Given the description of an element on the screen output the (x, y) to click on. 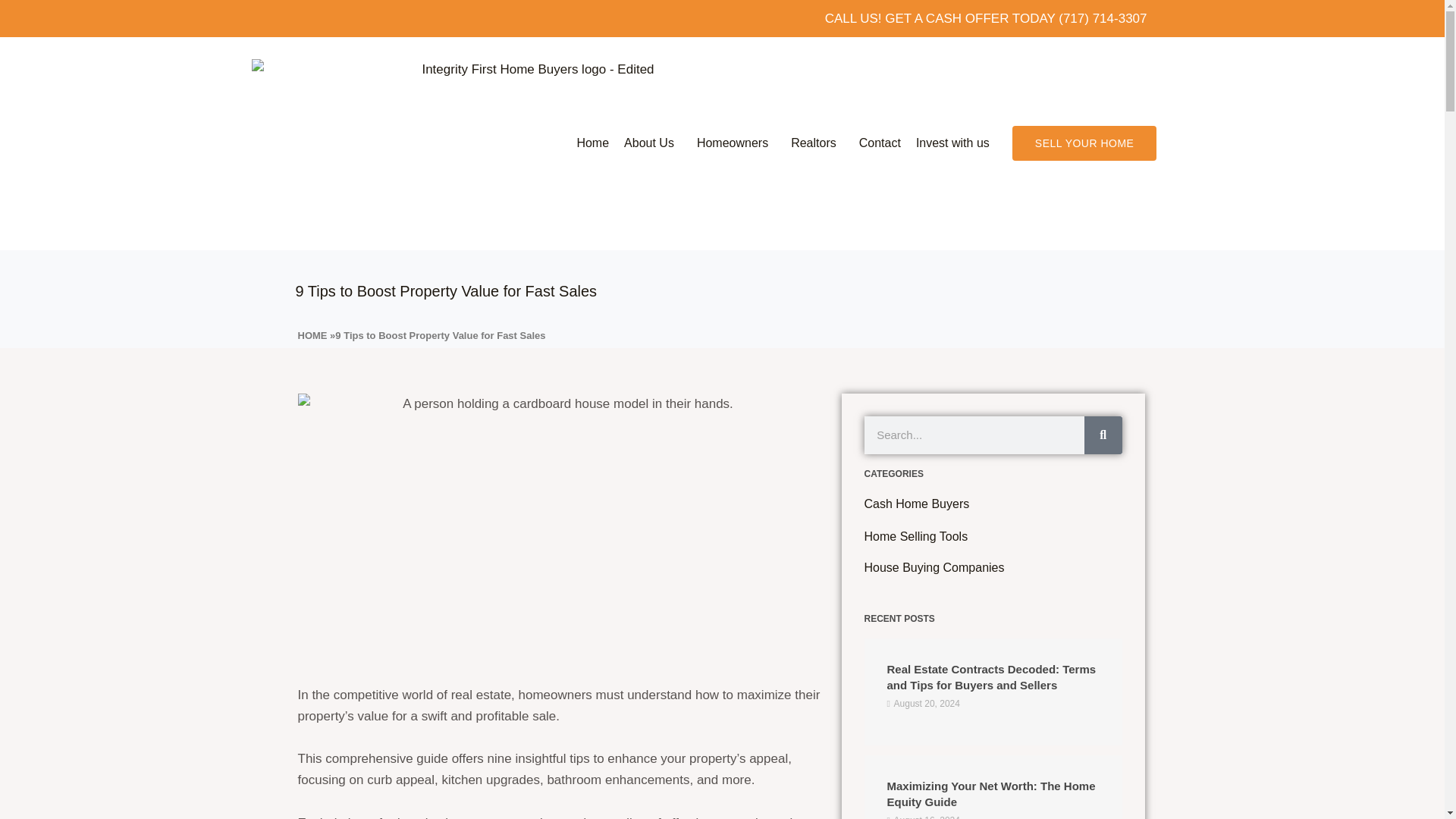
Homeowners (735, 143)
About Us (651, 143)
Contact (879, 143)
Realtors (817, 143)
Invest with us (952, 143)
House Buying Companies (934, 567)
SELL YOUR HOME (1084, 143)
Maximizing Your Net Worth: The Home Equity Guide (991, 793)
Cash Home Buyers (916, 503)
Home Selling Tools (916, 535)
